Given the description of an element on the screen output the (x, y) to click on. 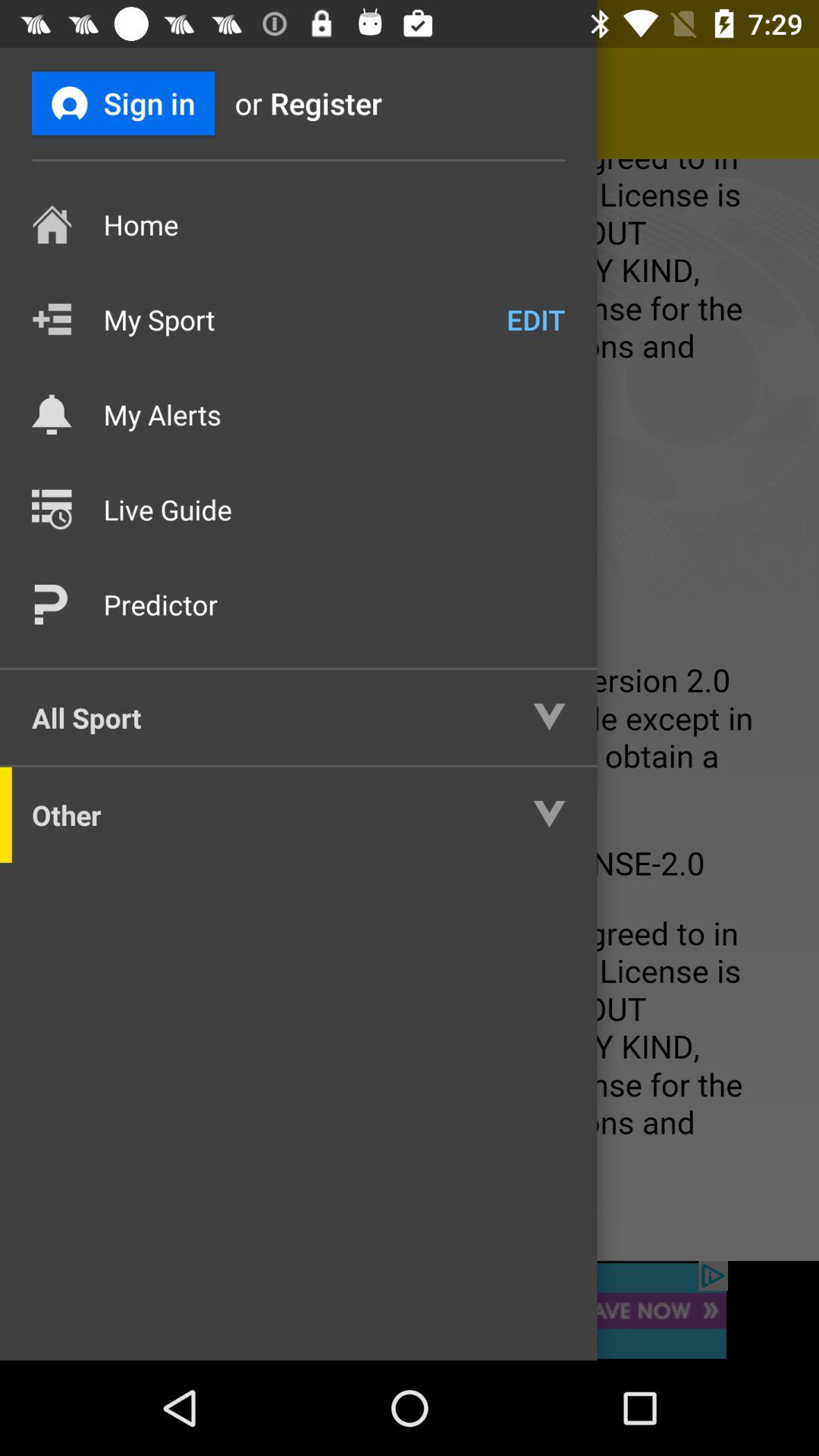
swipe to the edit (535, 319)
